Given the description of an element on the screen output the (x, y) to click on. 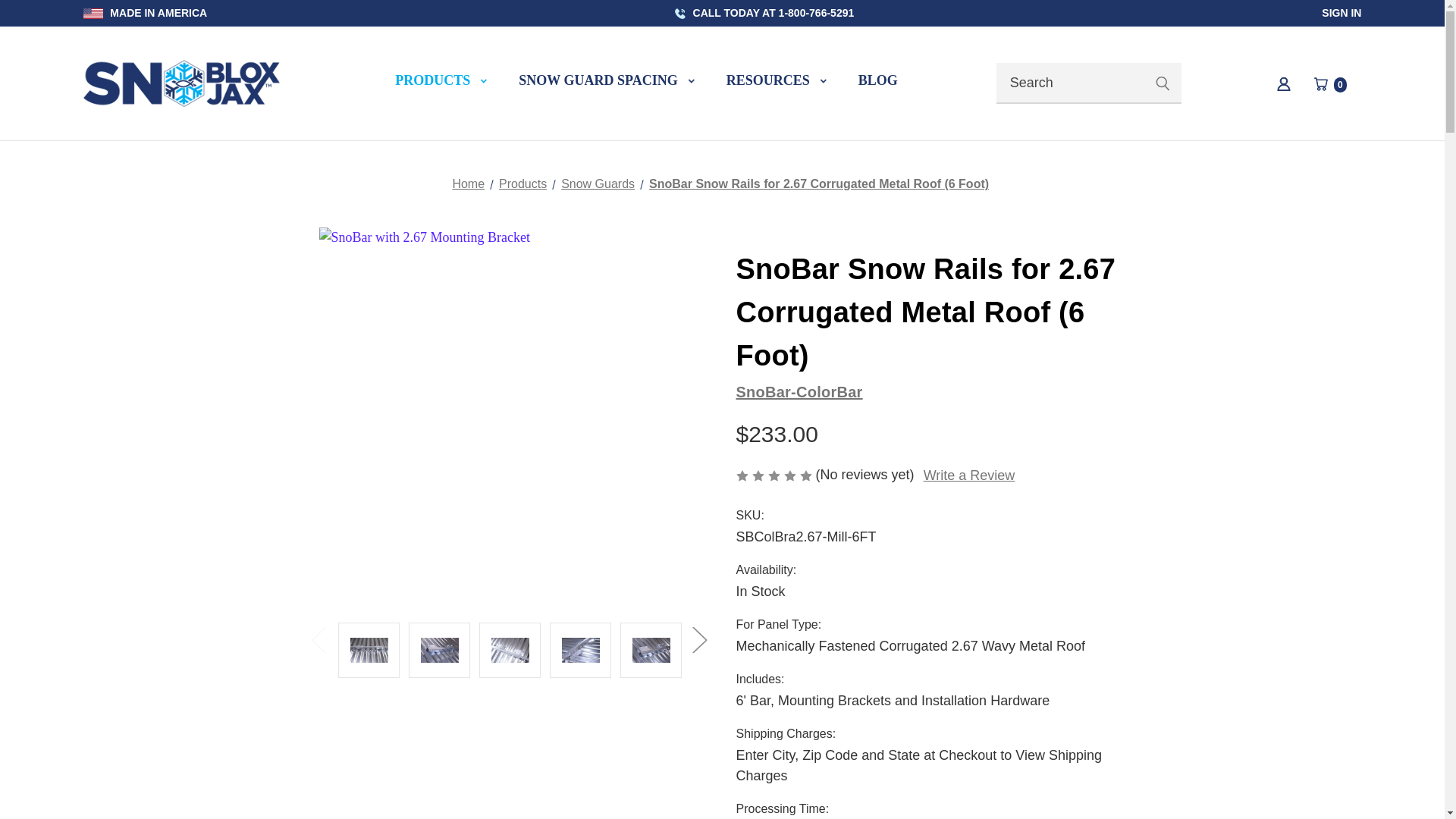
SIGN IN (1341, 12)
CHEVRON DOWN ICON CHEVRON DOWN ICON (824, 80)
SnoBlox-Snojax (606, 83)
CHEVRON DOWN ICON CHEVRON DOWN ICON (181, 83)
USA FLAG ICON USA FLAG ICON (483, 80)
Search icon Search icon (92, 13)
ACCOUNT ICON ACCOUNT ICON (1162, 83)
CART ICON CART ICON (1283, 83)
